Given the description of an element on the screen output the (x, y) to click on. 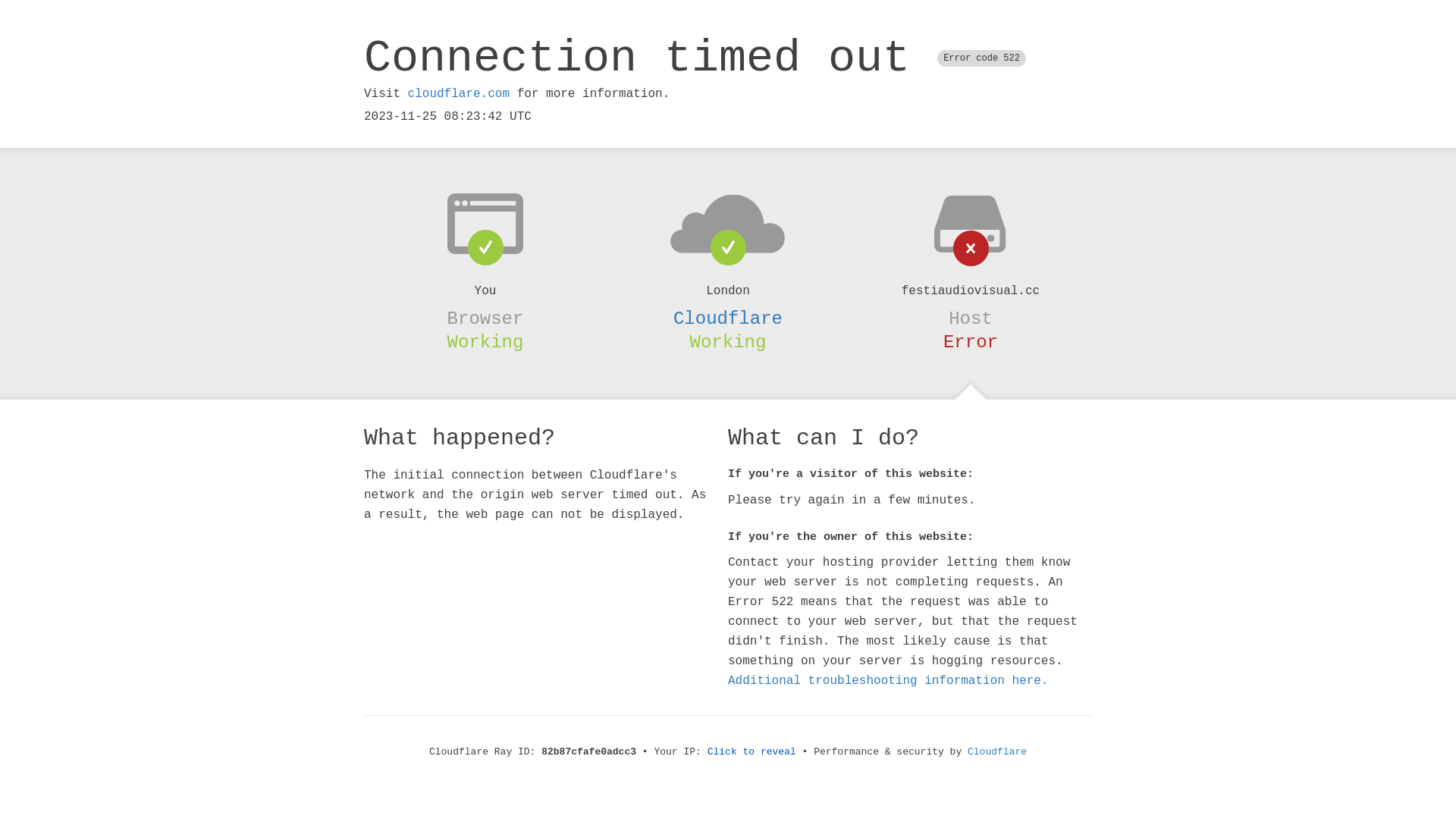
Click to reveal Element type: text (751, 751)
cloudflare.com Element type: text (458, 93)
Additional troubleshooting information here. Element type: text (888, 680)
Cloudflare Element type: text (727, 318)
Cloudflare Element type: text (996, 751)
